Given the description of an element on the screen output the (x, y) to click on. 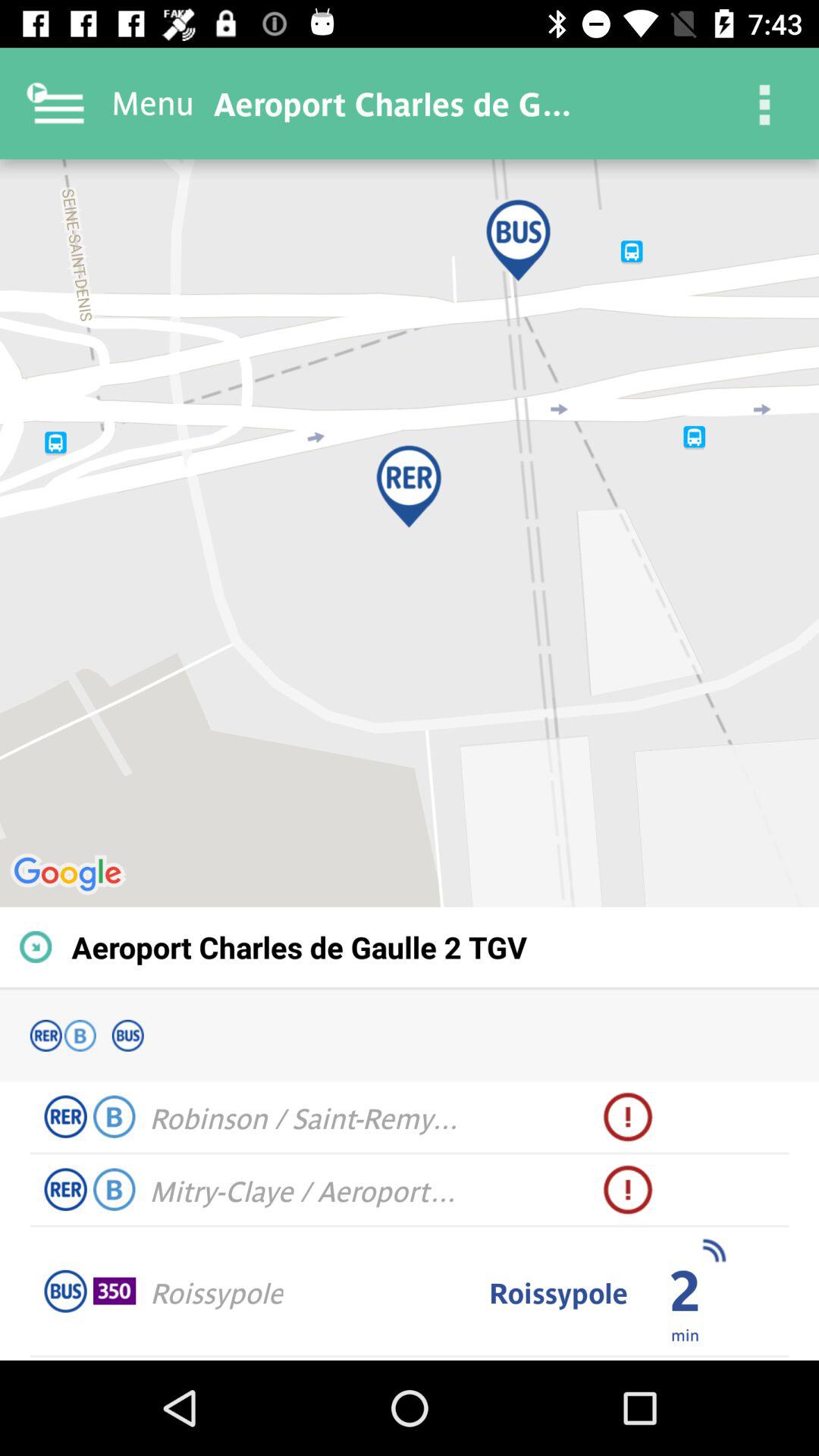
launch the min (684, 1334)
